Given the description of an element on the screen output the (x, y) to click on. 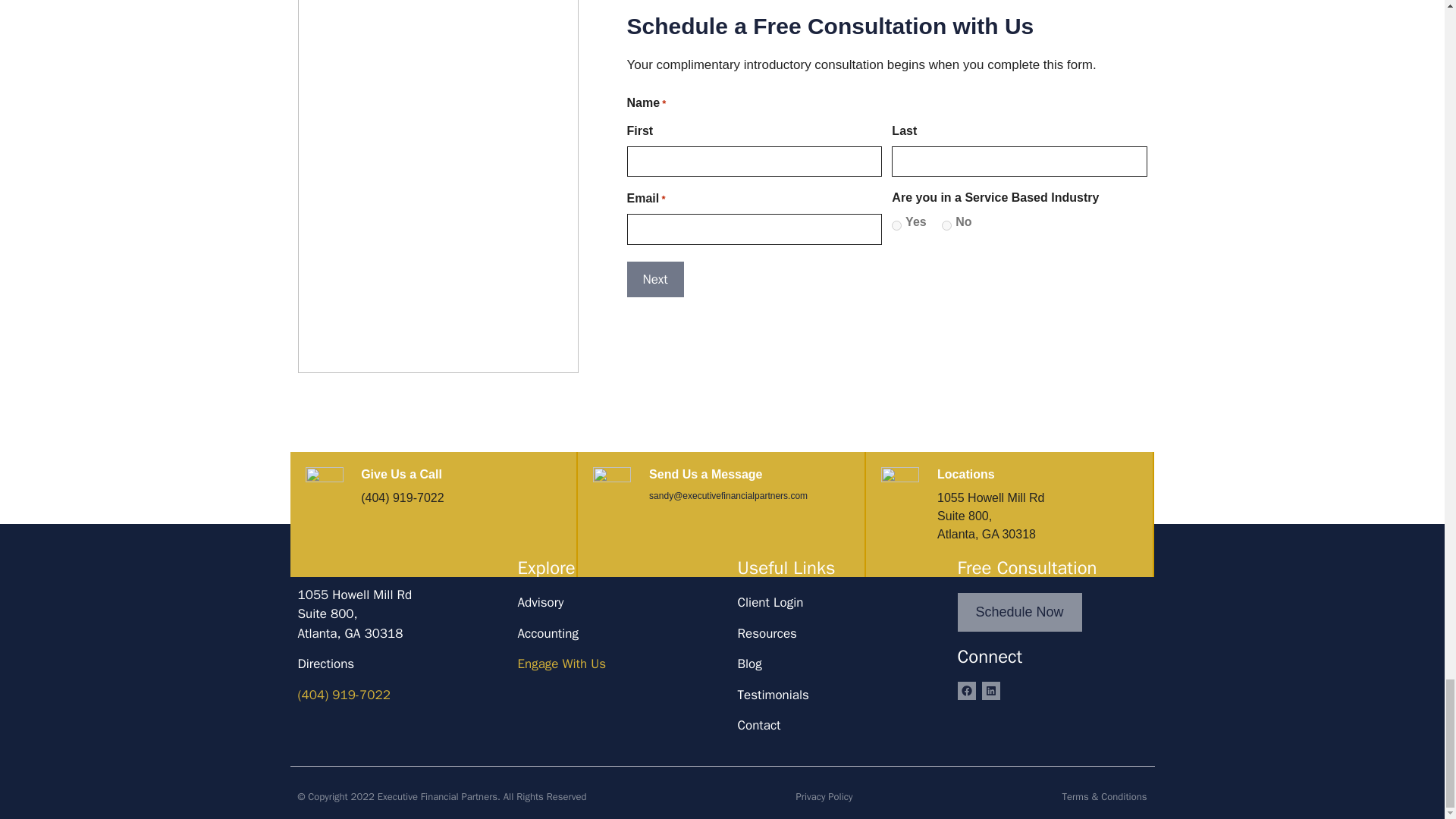
Contact (758, 725)
Schedule Now (1018, 611)
No (947, 225)
Accounting (547, 633)
Client Login (769, 602)
LinkedIn (989, 690)
Blog (748, 663)
Facebook (965, 690)
Next (654, 279)
Advisory (539, 602)
Testimonials (772, 694)
Yes (896, 225)
Directions (354, 604)
Resources (325, 663)
